Given the description of an element on the screen output the (x, y) to click on. 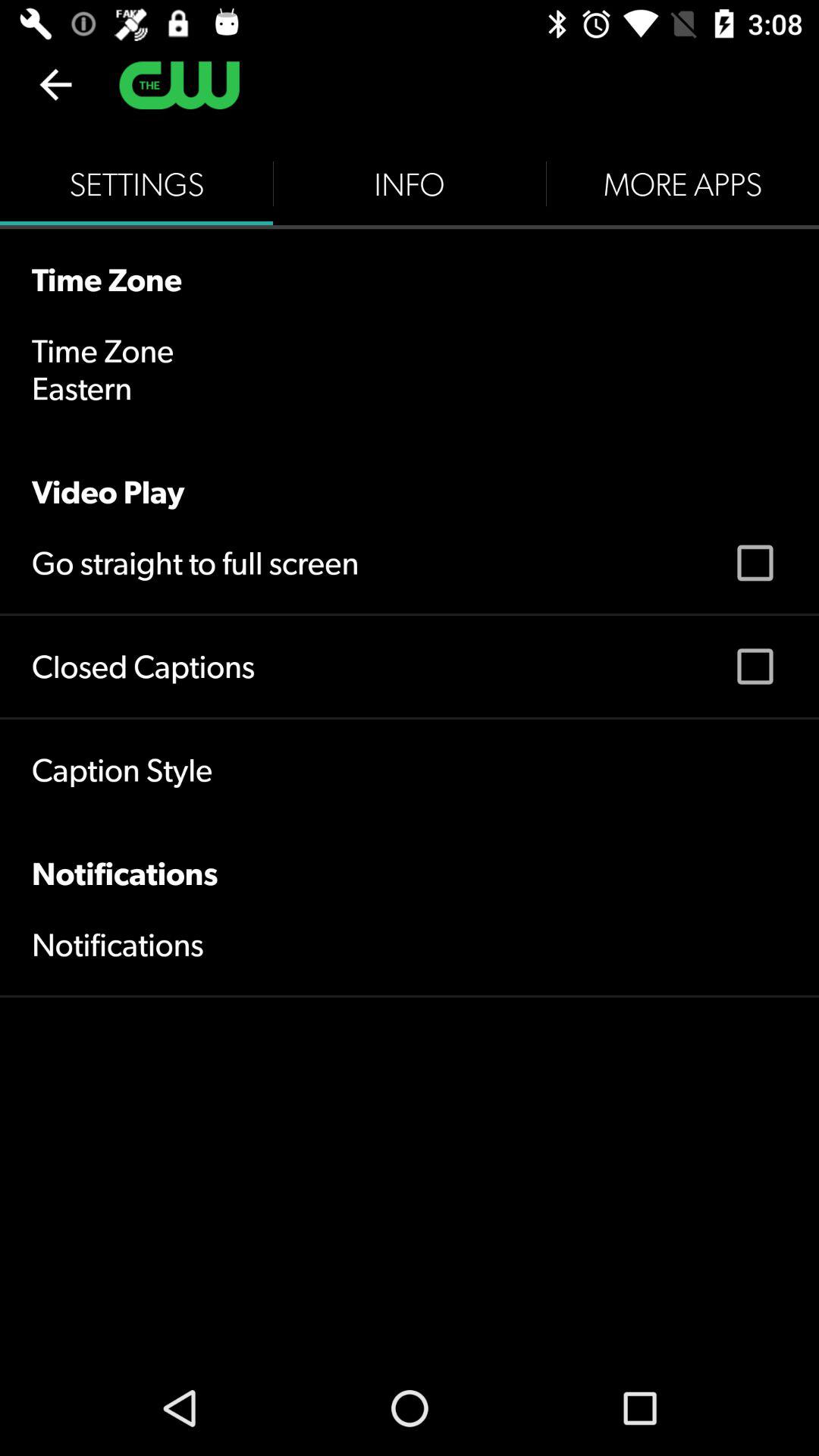
scroll to the closed captions icon (142, 666)
